Given the description of an element on the screen output the (x, y) to click on. 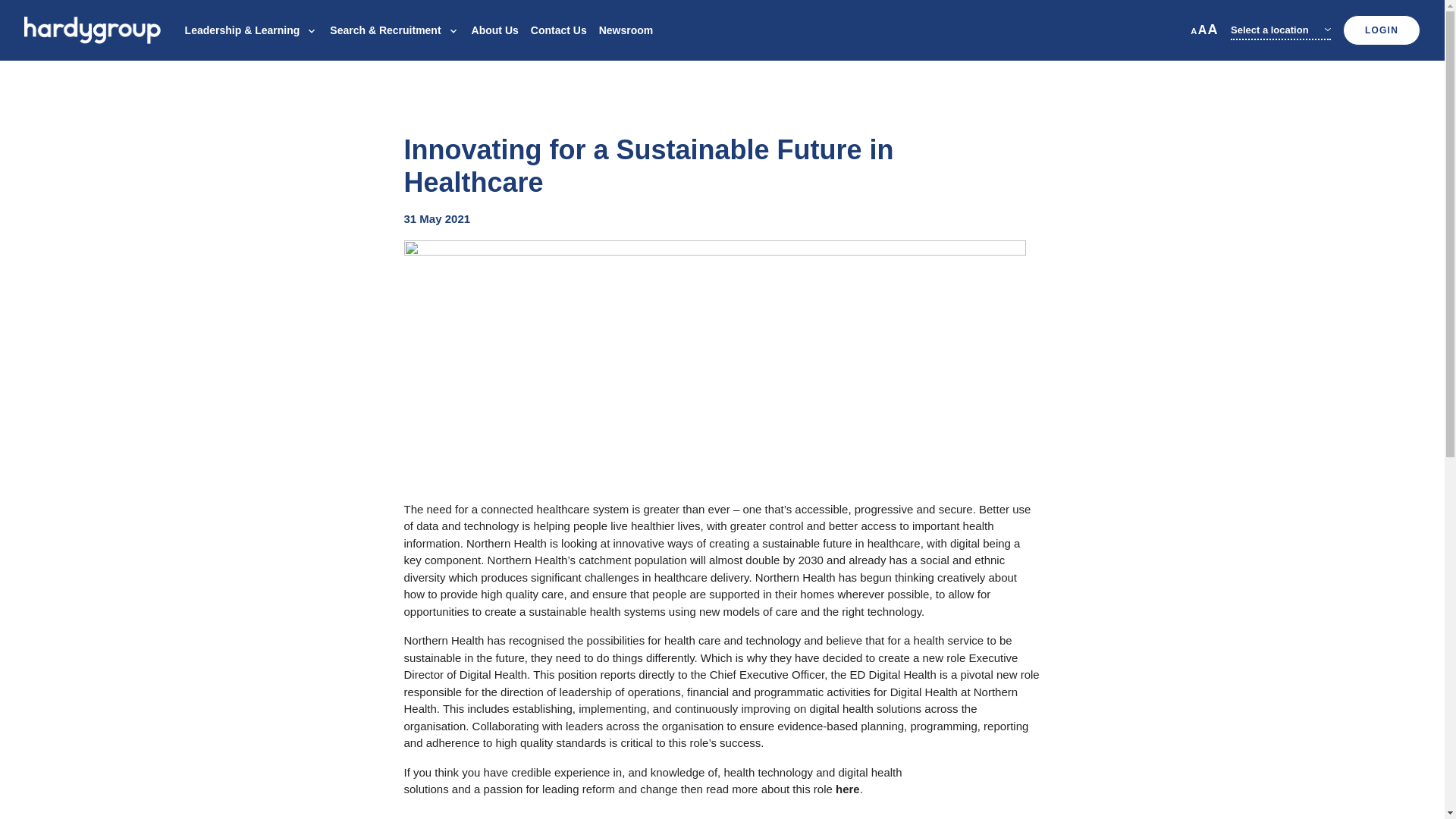
Contact Us (558, 30)
LOGIN (1381, 30)
Newsroom (625, 30)
